Given the description of an element on the screen output the (x, y) to click on. 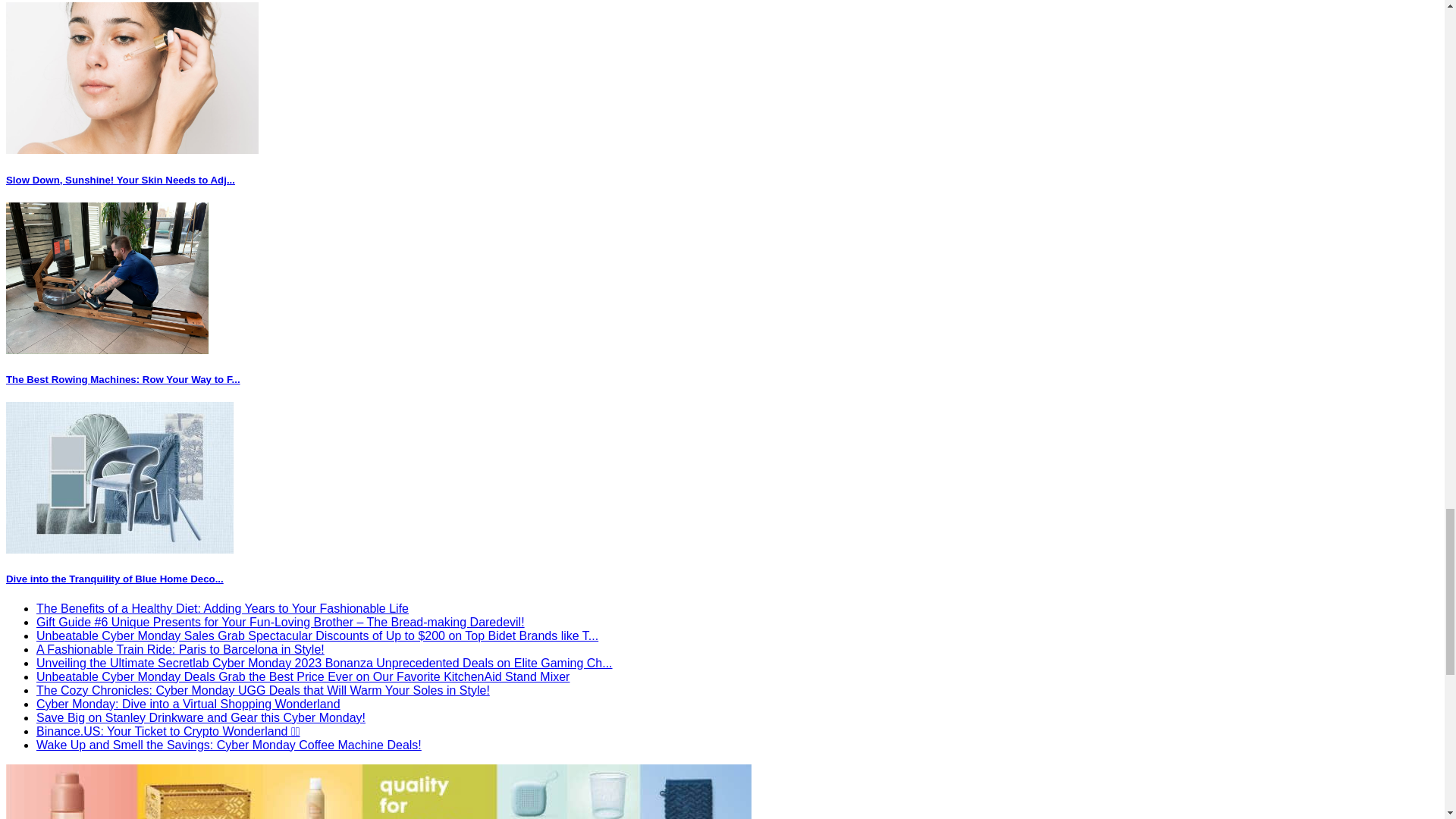
Dive into the Tranquility of Blue Home Deco... (114, 578)
The Best Rowing Machines: Row Your Way to F... (122, 378)
A Fashionable Train Ride: Paris to Barcelona in Style! (180, 649)
Slow Down, Sunshine! Your Skin Needs to Adj... (119, 179)
